Given the description of an element on the screen output the (x, y) to click on. 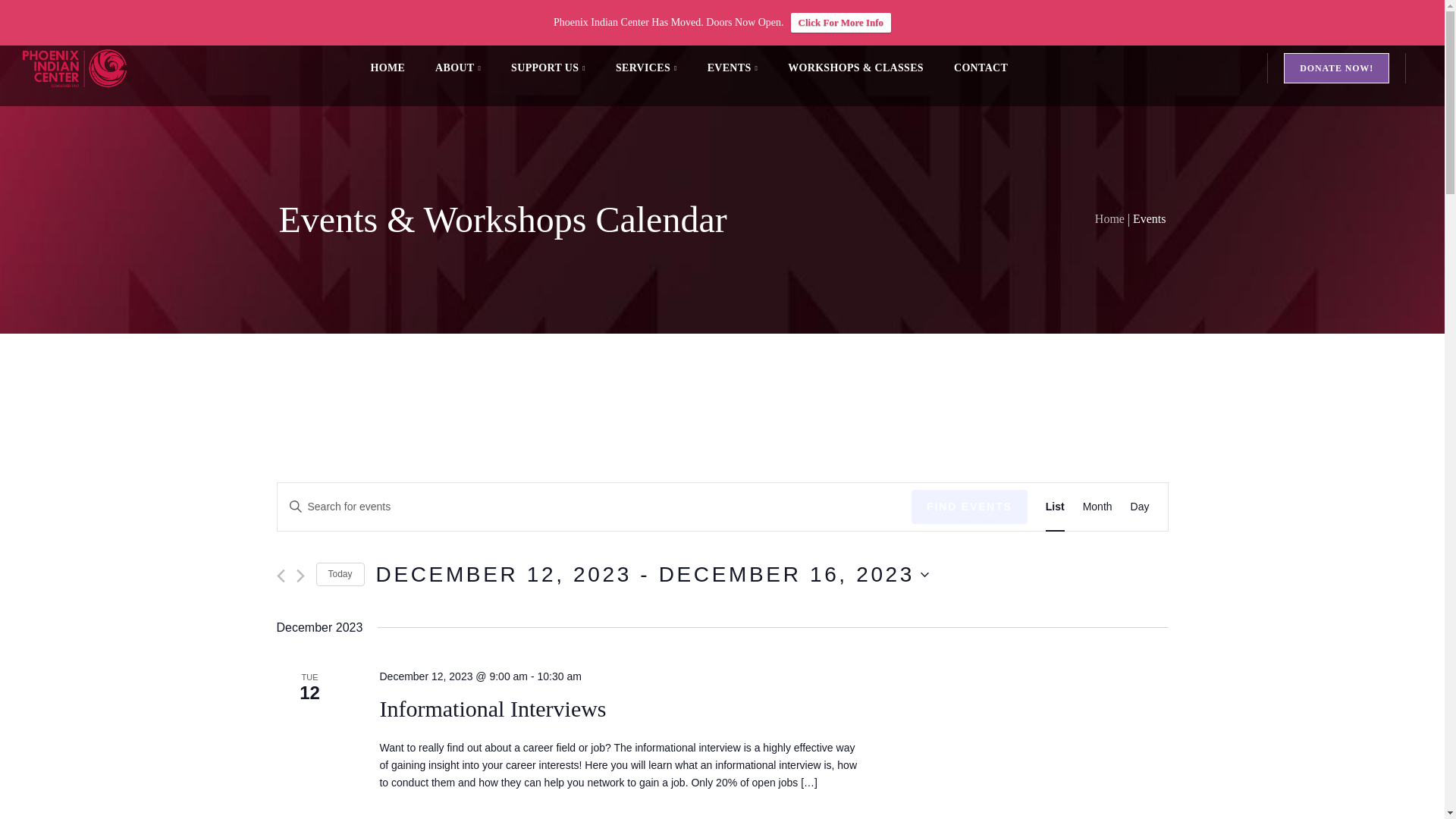
SUPPORT US (547, 68)
ABOUT (458, 68)
Click For More Info (840, 22)
DONATE NOW! (1336, 68)
EVENTS (733, 68)
602-264-6768 (58, 16)
Click to select today's date (339, 574)
Click to toggle datepicker (652, 574)
Informational Interviews (491, 708)
4041 N. Central Ave. Building B, Phoenix, AZ 85012 (244, 16)
